Given the description of an element on the screen output the (x, y) to click on. 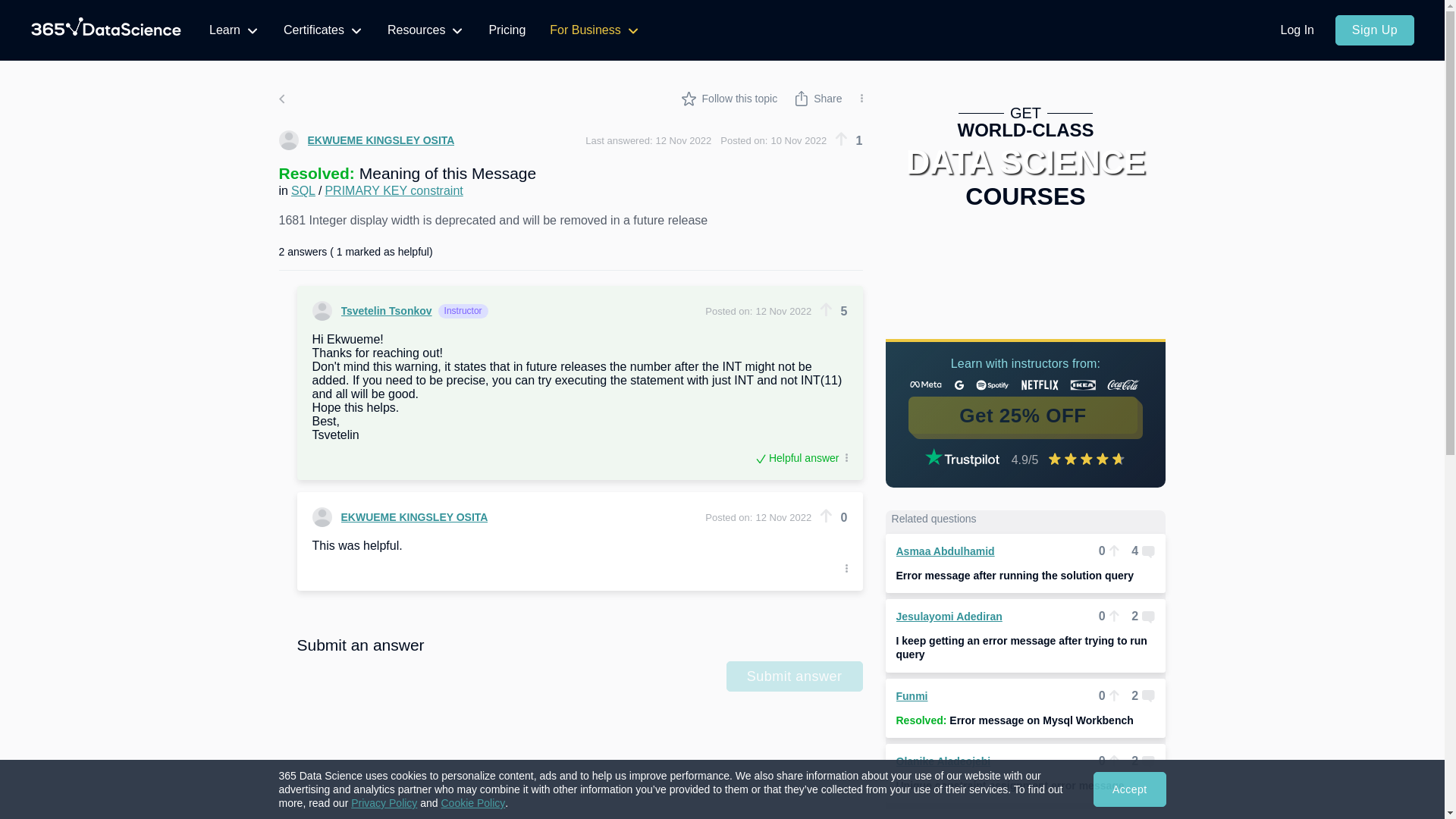
SQL (303, 191)
Pricing (506, 29)
Sign Up (1374, 30)
Log In (1296, 29)
Submit answer (794, 675)
PRIMARY KEY constraint (393, 191)
EKWUEME KINGSLEY OSITA (400, 516)
Tsvetelin Tsonkov (372, 311)
Pricing (506, 29)
365 Data Science (106, 30)
EKWUEME KINGSLEY OSITA (366, 139)
